Given the description of an element on the screen output the (x, y) to click on. 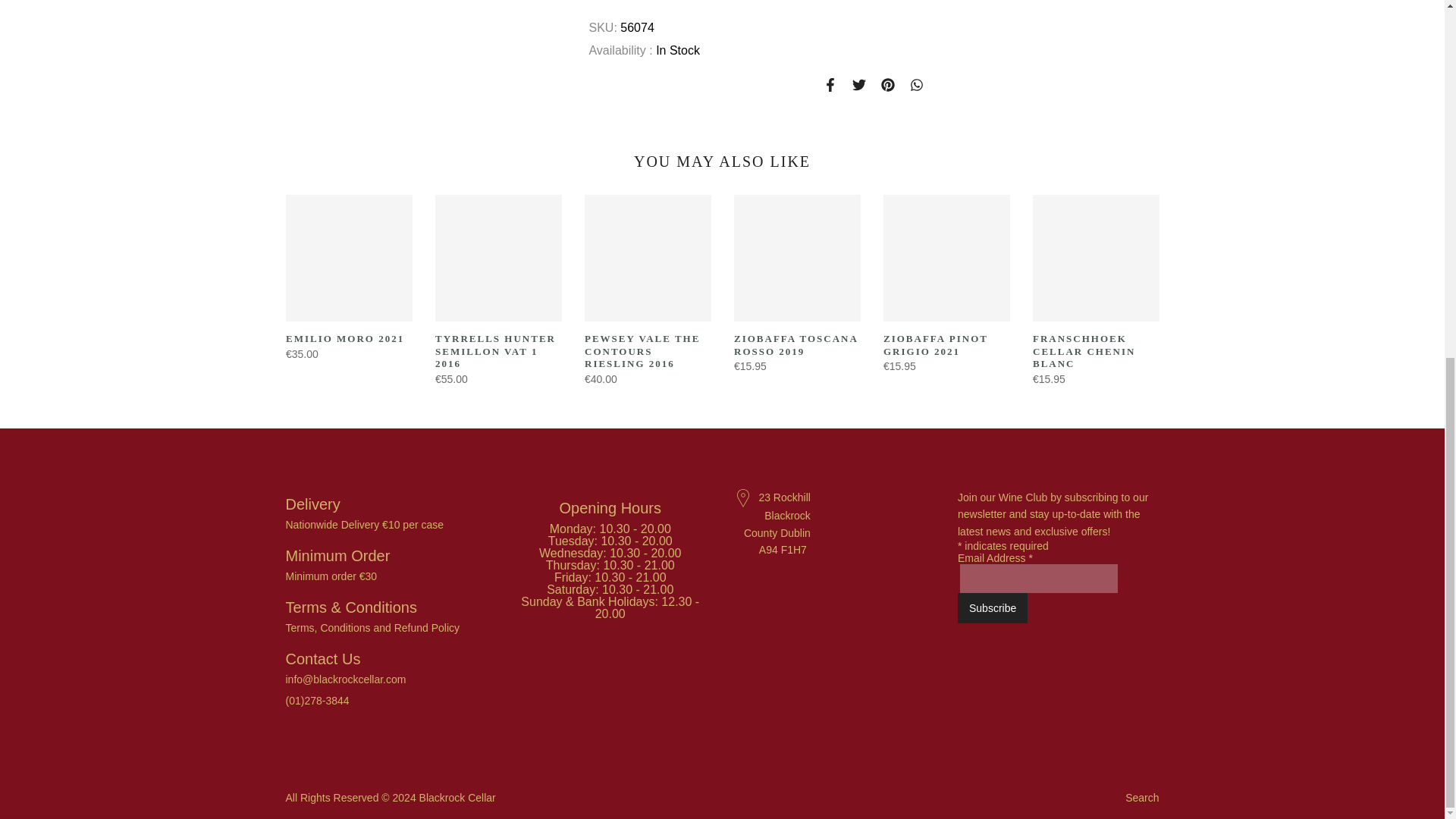
Subscribe (992, 607)
1 (831, 222)
